Given the description of an element on the screen output the (x, y) to click on. 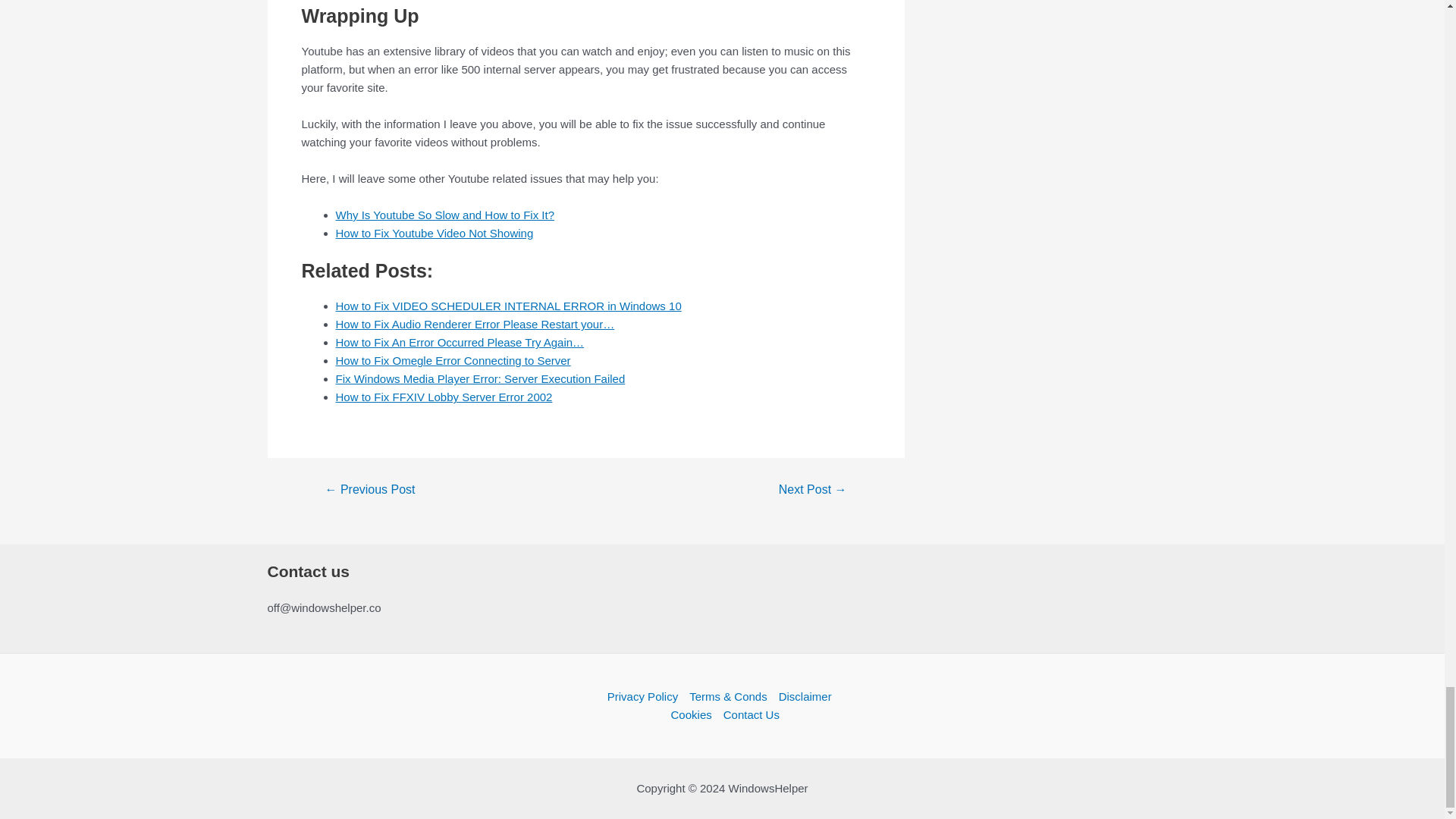
How to Fix Omegle Error Connecting to Server (452, 359)
Fix: PUBG Cannot Find Dxgi.dll on Windows (368, 490)
Why Is Youtube So Slow and How to Fix It? (444, 214)
How to Fix VIDEO SCHEDULER INTERNAL ERROR in Windows 10 (507, 305)
How to Fix FFXIV Lobby Server Error 2002 (442, 396)
Fix Windows Media Player Error: Server Execution Failed (479, 378)
How to Fix Youtube Video Not Showing (433, 232)
How to Fix Power Surge on the USB Port in Windows 10 (812, 490)
